Given the description of an element on the screen output the (x, y) to click on. 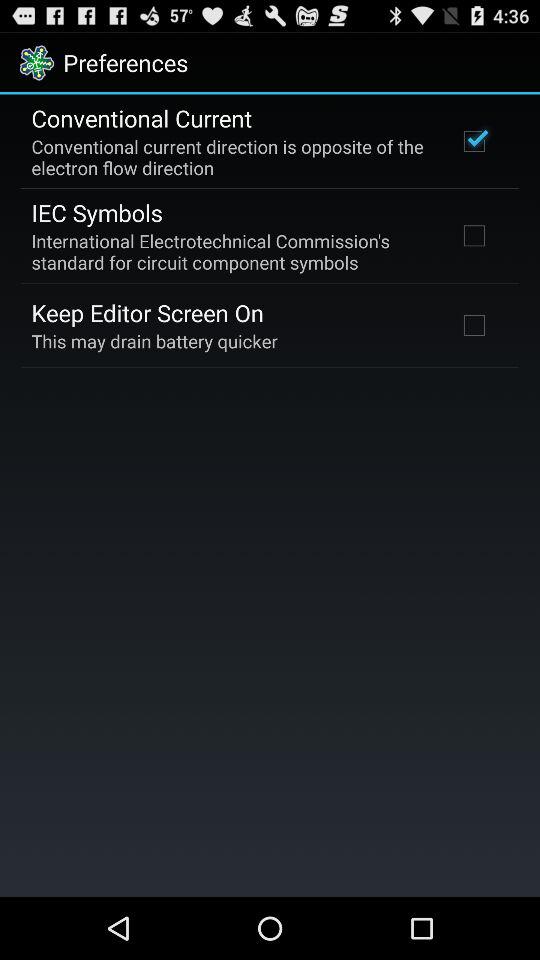
open the international electrotechnical commission app (231, 251)
